Given the description of an element on the screen output the (x, y) to click on. 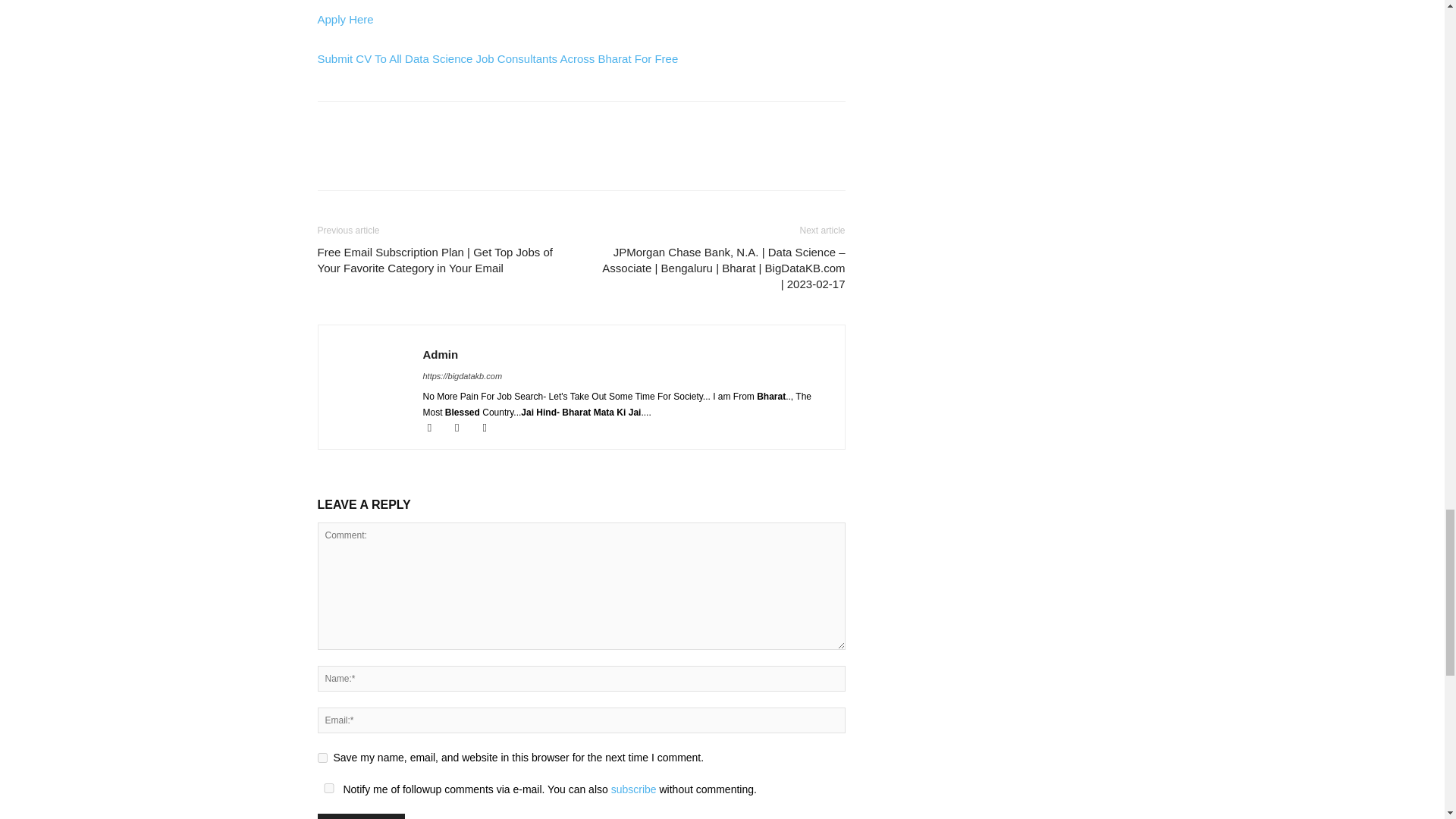
bottomFacebookLike (430, 125)
bigdatakb.com submit CV (497, 58)
